Given the description of an element on the screen output the (x, y) to click on. 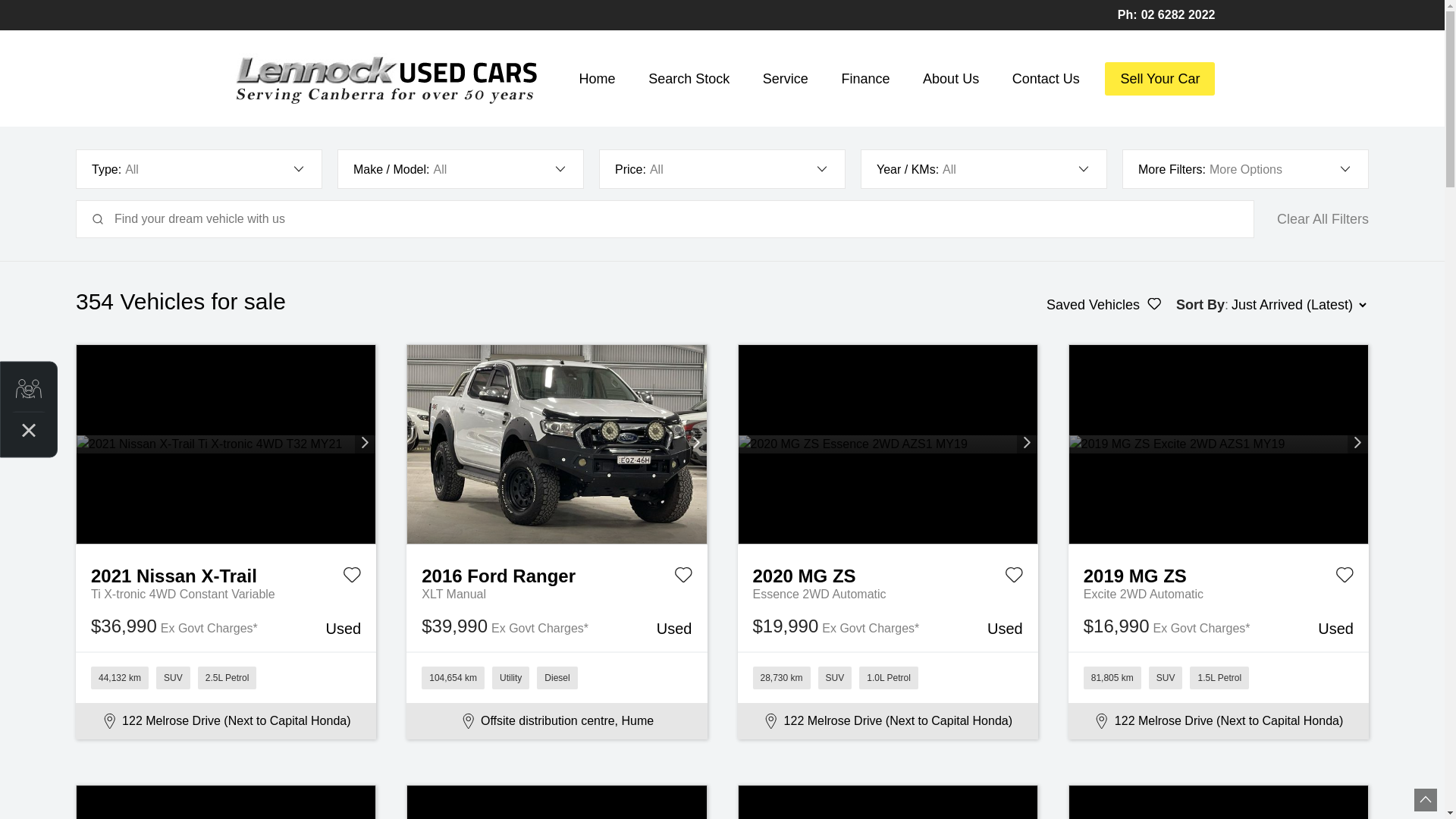
Sell Your Car Element type: text (1159, 78)
44,132 km
SUV
2.5L Petrol Element type: text (225, 676)
2019 MG ZS
Excite 2WD Automatic Element type: text (1218, 573)
2020 MG ZS Essence 2WD AZS1 MY19 Element type: hover (887, 444)
104,654 km
Utility
Diesel Element type: text (556, 676)
2016 Ford Ranger XLT PX MkII Element type: hover (556, 443)
122 Melrose Drive (Next to Capital Honda) Element type: text (225, 720)
28,730 km
SUV
1.0L Petrol Element type: text (887, 676)
Save Vehicle Element type: hover (1013, 577)
122 Melrose Drive (Next to Capital Honda) Element type: text (887, 720)
Saved Vehicles Element type: text (1103, 304)
$16,990
Ex Govt Charges*
Used Element type: text (1218, 627)
2021 Nissan X-Trail Ti X-tronic 4WD T32 MY21 Element type: hover (225, 444)
2020 MG ZS
Essence 2WD Automatic Element type: text (887, 573)
Save Vehicle Element type: hover (682, 577)
Contact Us Element type: text (1045, 78)
$39,990
Ex Govt Charges*
Used Element type: text (556, 627)
About Us Element type: text (950, 78)
02 6282 2022 Element type: text (1178, 15)
81,805 km
SUV
1.5L Petrol Element type: text (1218, 676)
Offsite distribution centre, Hume Element type: text (556, 720)
2021 Nissan X-Trail
Ti X-tronic 4WD Constant Variable Element type: text (225, 573)
Home Element type: text (597, 78)
Service Element type: text (785, 78)
Clear All Filters Element type: text (1322, 219)
122 Melrose Drive (Next to Capital Honda) Element type: text (1218, 720)
$19,990
Ex Govt Charges*
Used Element type: text (887, 627)
2019 MG ZS Excite 2WD AZS1 MY19 Element type: hover (1218, 444)
Save Vehicle Element type: hover (351, 577)
Save Vehicle Element type: hover (1344, 577)
Finance Element type: text (865, 78)
2016 Ford Ranger
XLT Manual Element type: text (556, 573)
$36,990
Ex Govt Charges*
Used Element type: text (225, 627)
Search Stock Element type: text (688, 78)
